Given the description of an element on the screen output the (x, y) to click on. 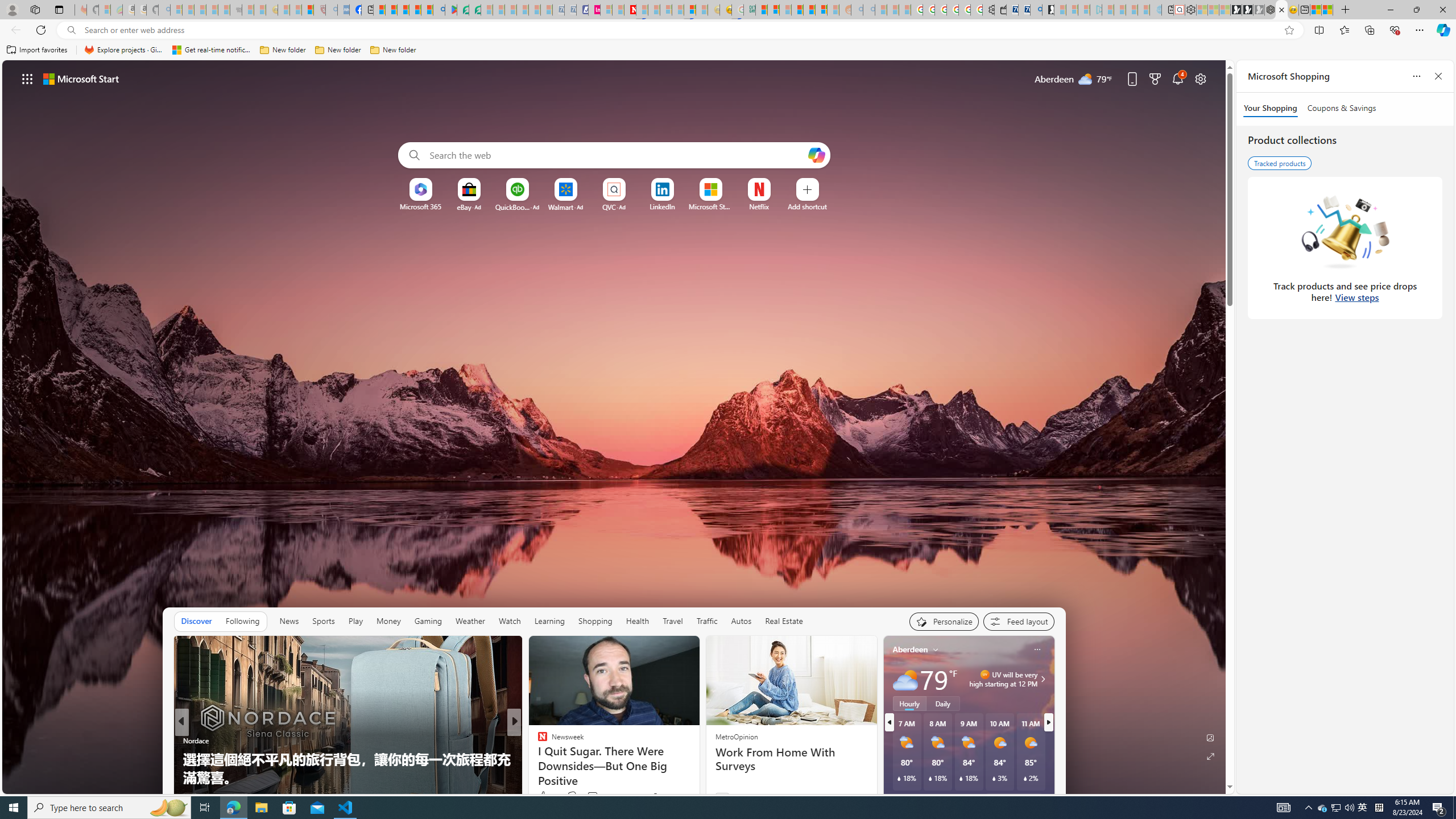
My location (936, 649)
Sports (323, 621)
